Given the description of an element on the screen output the (x, y) to click on. 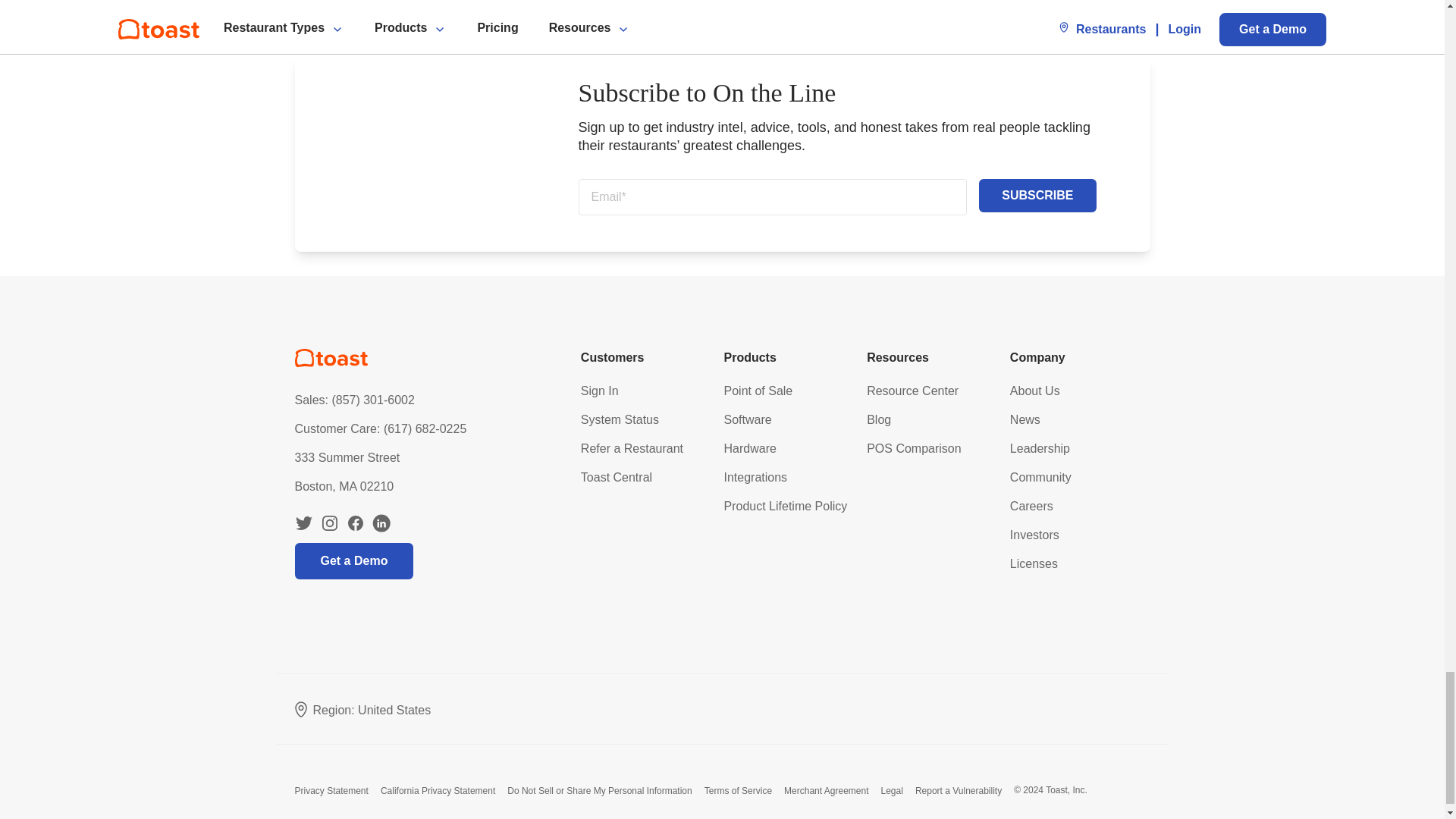
Toast on Twitter (303, 523)
Toast on LinkedIn (380, 523)
Toast on Instagram (328, 523)
Toast on Facebook (355, 523)
